Given the description of an element on the screen output the (x, y) to click on. 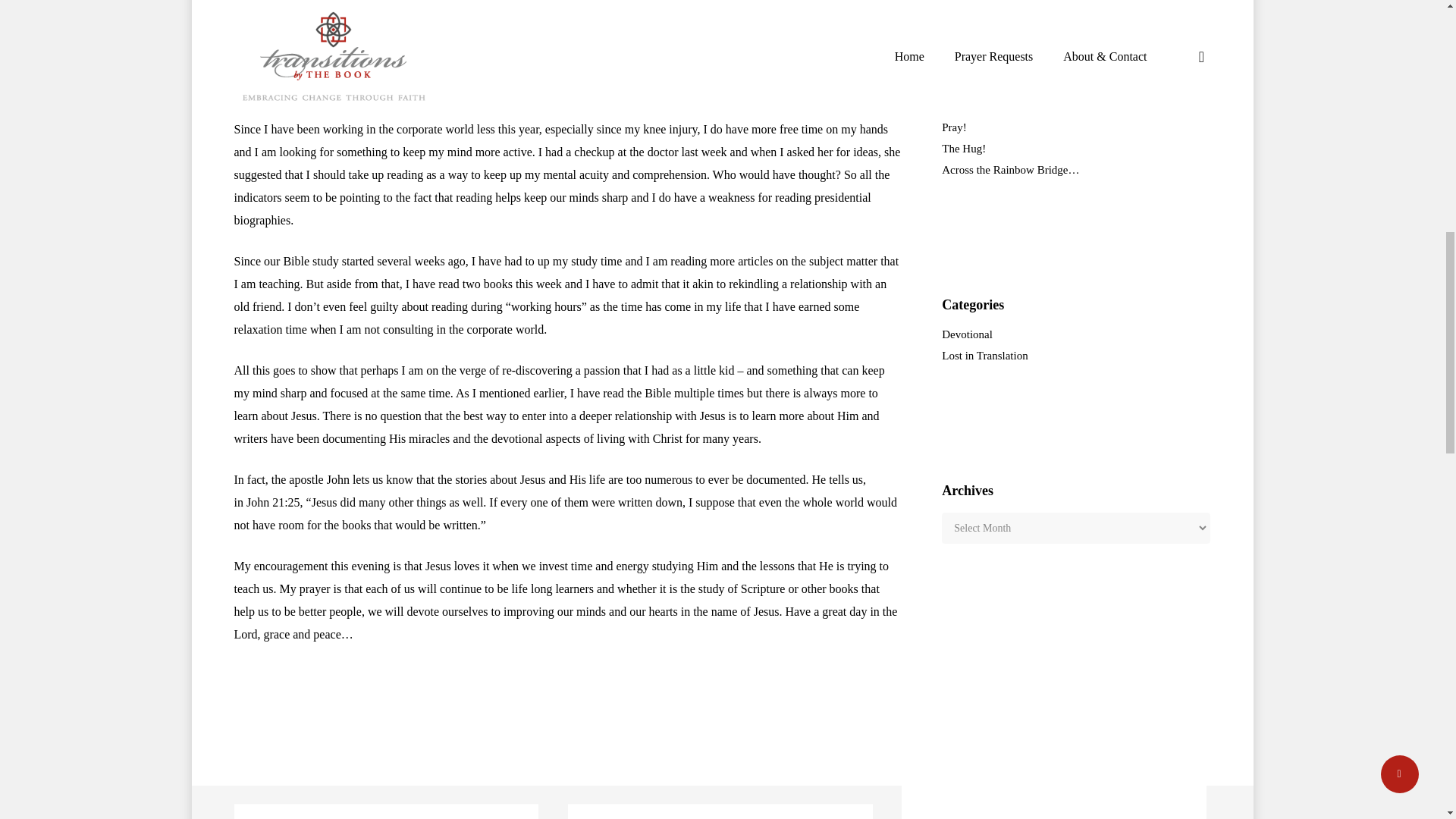
Pray! (1075, 127)
Devotional (1075, 334)
The Hug! (1075, 148)
Lost in Translation (1075, 355)
